Given the description of an element on the screen output the (x, y) to click on. 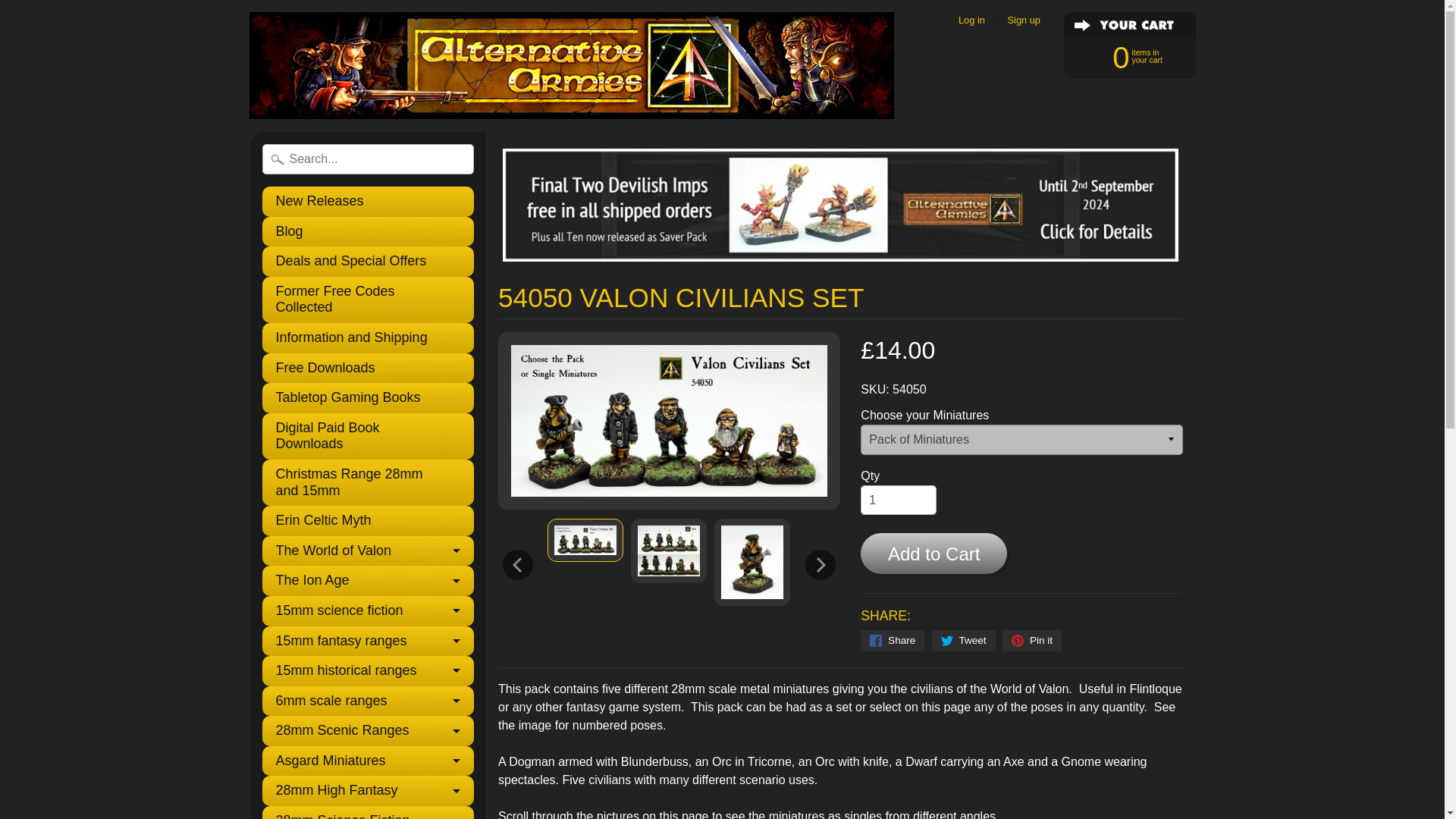
The World of Valon (368, 551)
54050 Valon Civilians Set (668, 550)
New Releases (368, 201)
Tabletop Gaming Books (368, 398)
1 (898, 500)
Log in (970, 20)
Sign up (1024, 20)
Christmas Range 28mm and 15mm (368, 482)
Erin Celtic Myth (368, 521)
